Given the description of an element on the screen output the (x, y) to click on. 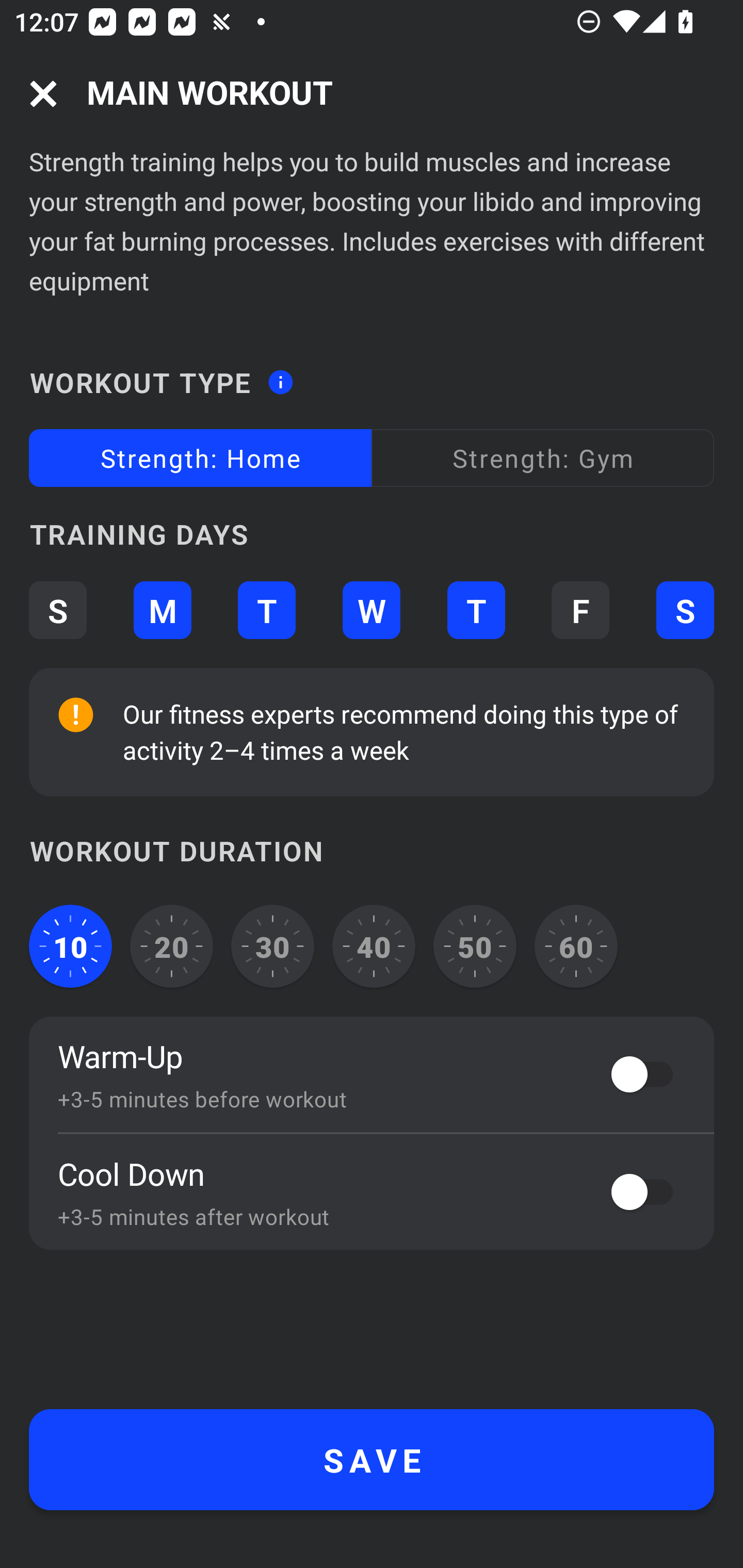
Navigation icon (43, 93)
Workout type information button (280, 375)
Strength: Home (199, 457)
Strength: Gym (542, 457)
S (57, 610)
F (580, 610)
10 (70, 946)
20 (171, 946)
30 (272, 946)
40 (373, 946)
50 (474, 946)
60 (575, 946)
SAVE (371, 1459)
